Given the description of an element on the screen output the (x, y) to click on. 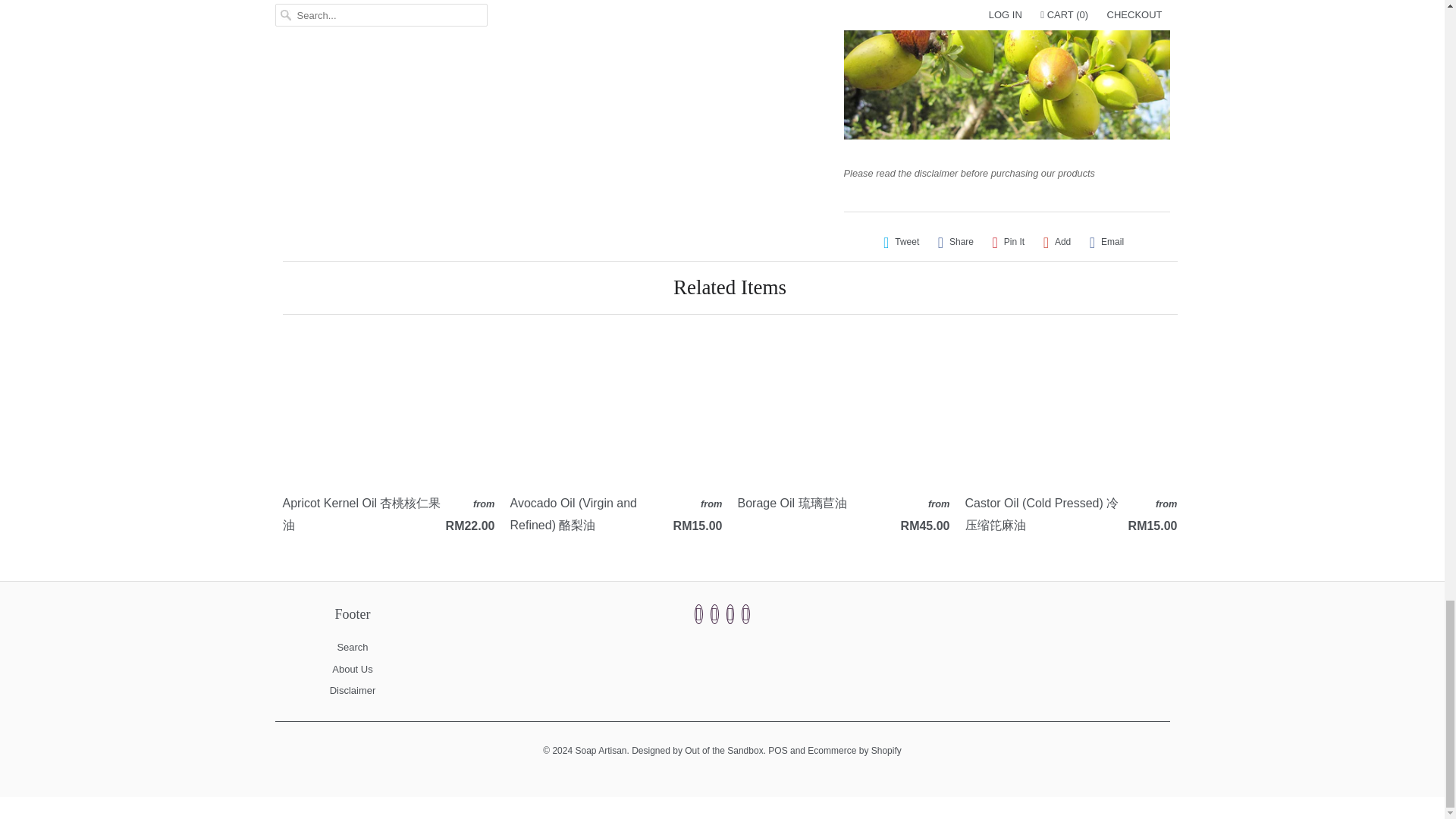
Share this on Pinterest (1008, 242)
Share this on Twitter (901, 242)
Share this on Facebook (955, 242)
Email this to a friend (1106, 242)
